Given the description of an element on the screen output the (x, y) to click on. 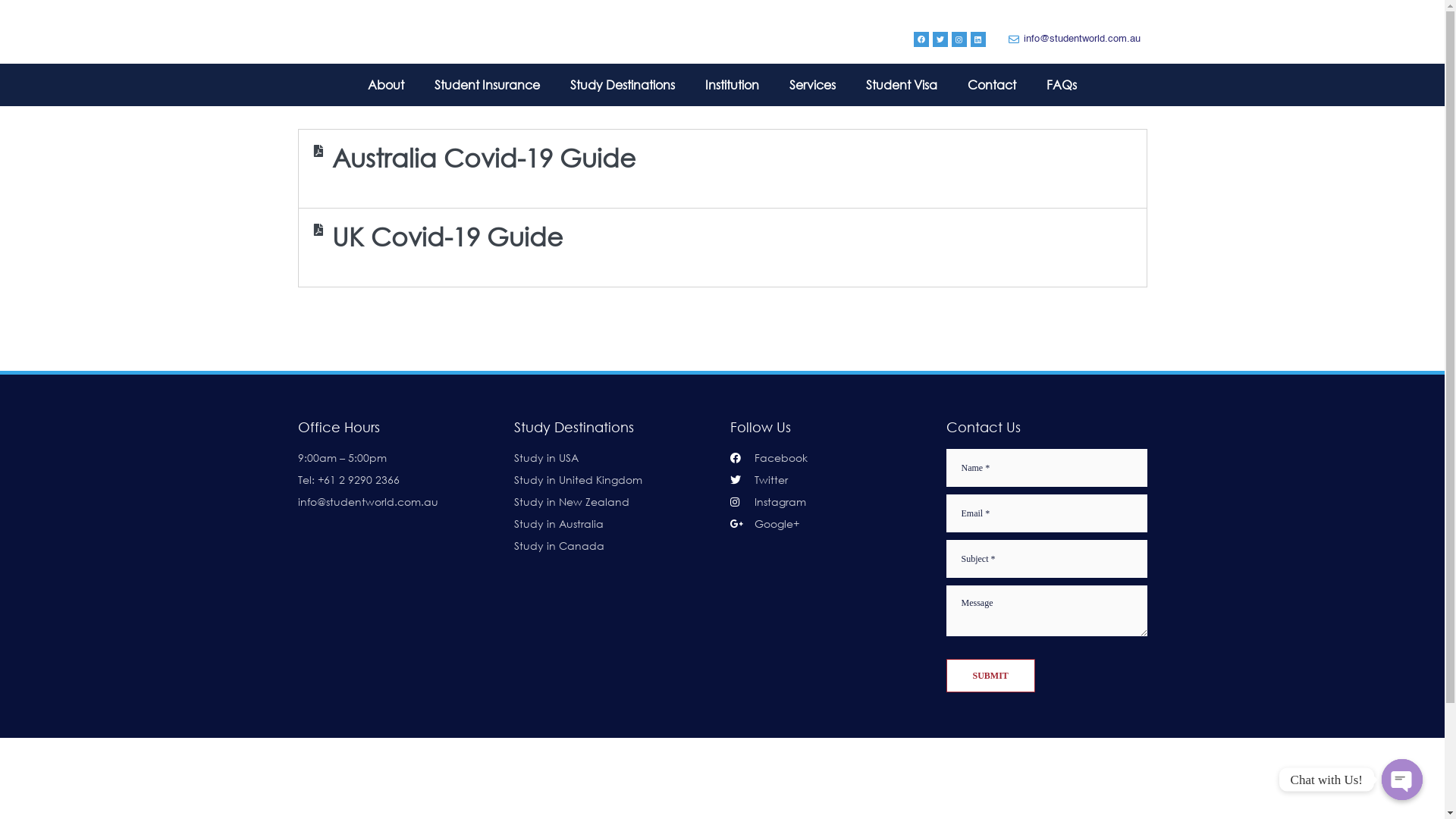
Study in USA Element type: text (614, 457)
Study in New Zealand Element type: text (614, 501)
Contact Element type: text (991, 84)
FAQs Element type: text (1061, 84)
Australia Covid-19 Guide Element type: text (483, 156)
Facebook Element type: text (829, 457)
Twitter Element type: text (829, 479)
Study Destinations Element type: text (622, 84)
Services Element type: text (812, 84)
Study in Canada Element type: text (614, 545)
Student Visa Element type: text (901, 84)
Instagram Element type: text (829, 501)
Institution Element type: text (732, 84)
Submit Element type: text (990, 675)
Google+ Element type: text (829, 523)
Study in United Kingdom Element type: text (614, 479)
UK Covid-19 Guide Element type: text (447, 235)
About Element type: text (385, 84)
Student Insurance Element type: text (487, 84)
Study in Australia Element type: text (614, 523)
